Given the description of an element on the screen output the (x, y) to click on. 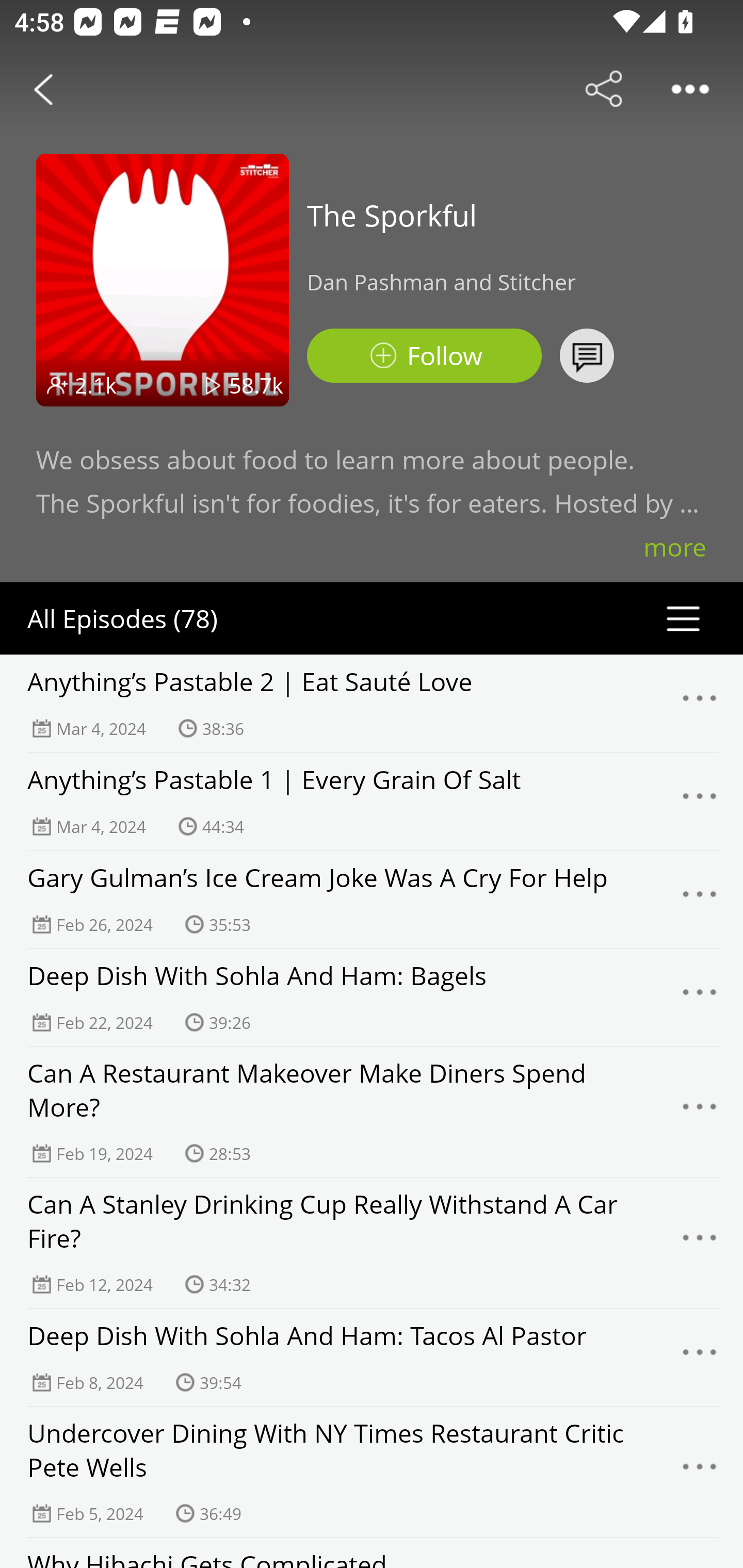
Back (43, 88)
Podbean Follow (423, 355)
2.1k (95, 384)
more (674, 546)
Menu (699, 703)
Menu (699, 801)
Menu (699, 899)
Menu (699, 997)
Menu (699, 1112)
Menu (699, 1242)
Menu (699, 1356)
Menu (699, 1471)
